Given the description of an element on the screen output the (x, y) to click on. 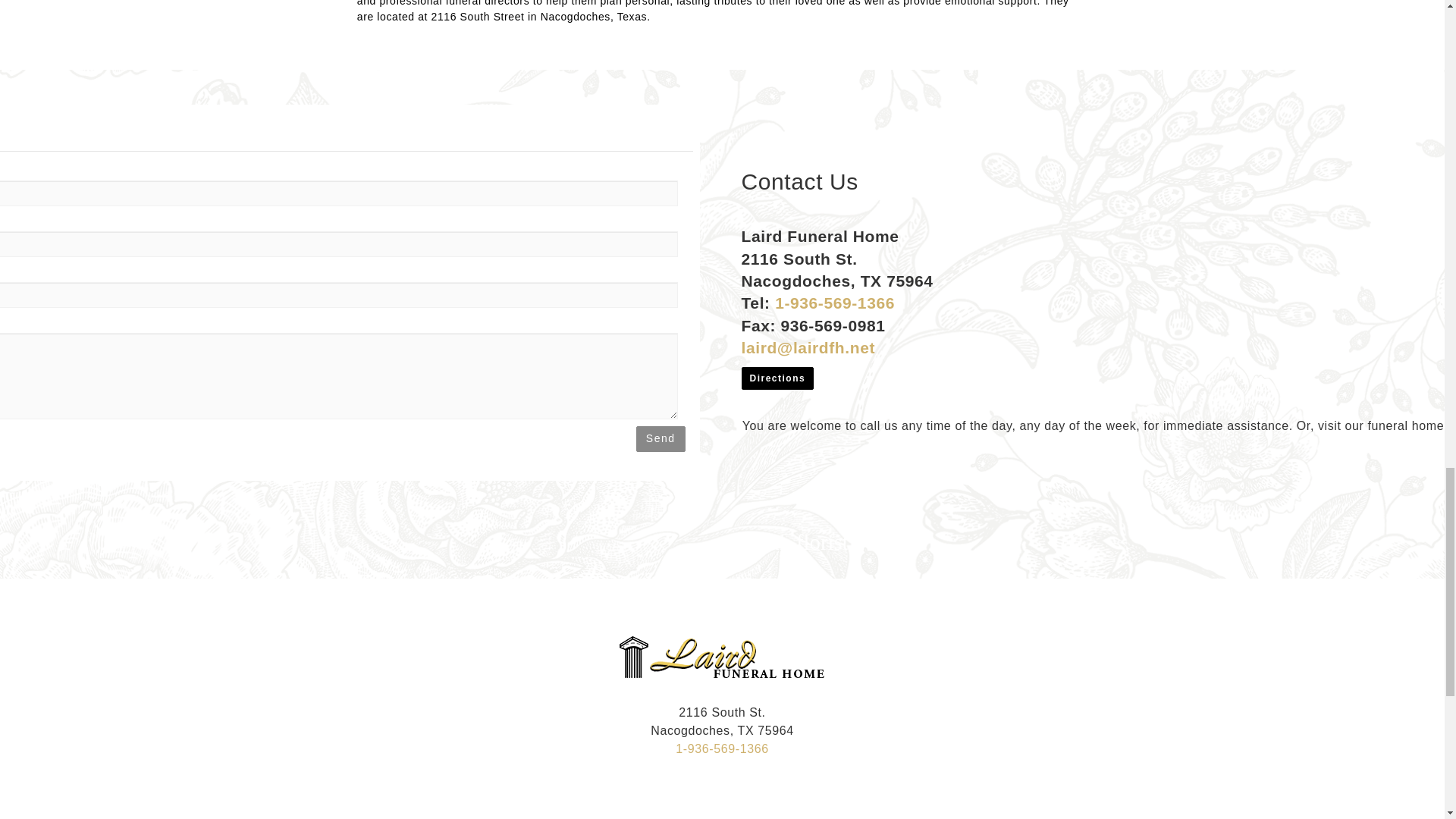
Contact Us (733, 816)
Send Flowers (705, 816)
Directions (777, 377)
1-936-569-1366 (834, 303)
Send (660, 438)
Contact Us (778, 539)
Directions (777, 376)
Send Flowers (750, 539)
